Given the description of an element on the screen output the (x, y) to click on. 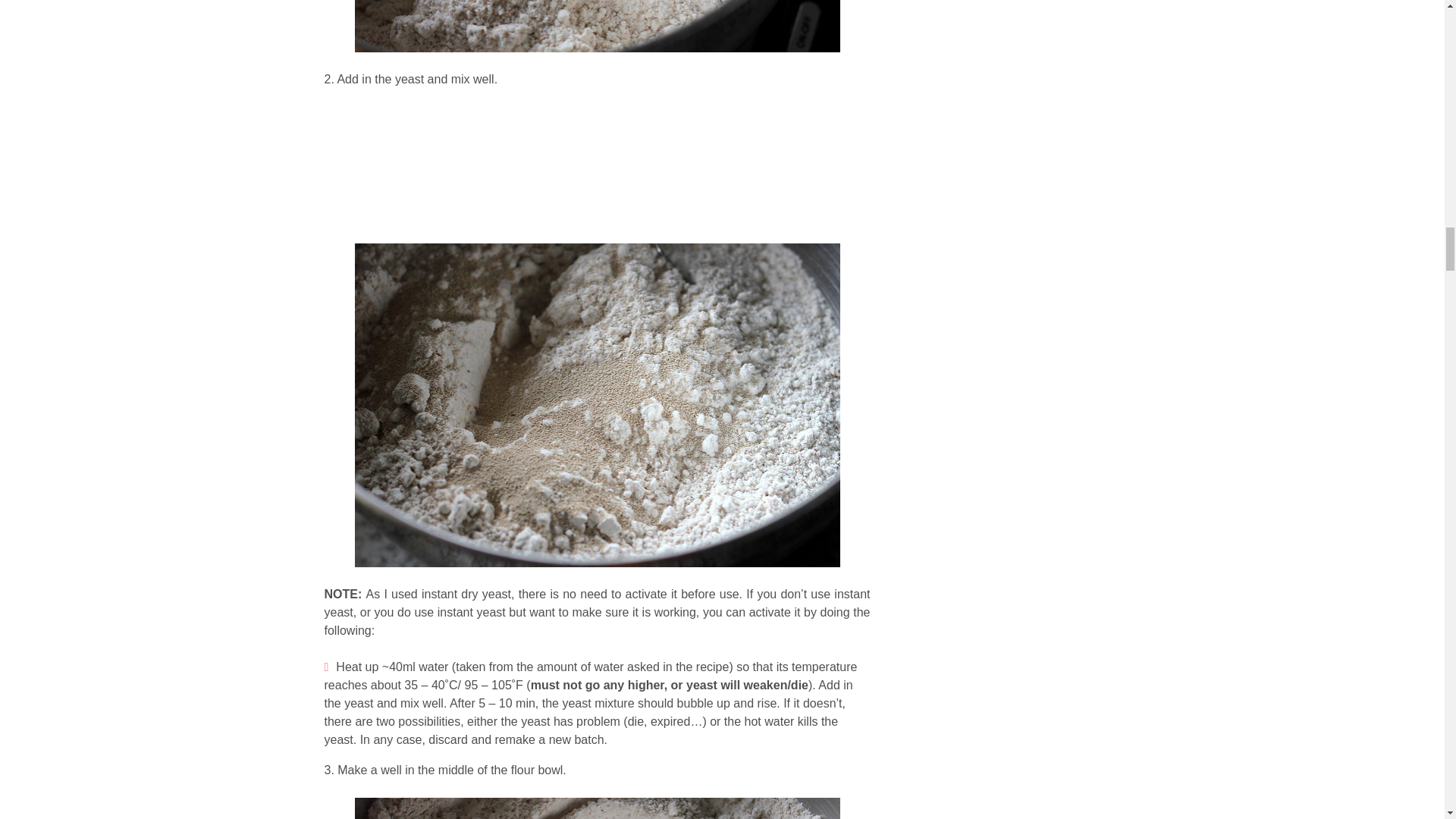
 rose cake 3 by LinhTrang9185, on Flickr (597, 42)
 rose cake 3 by LinhTrang9185, on Flickr (597, 808)
